Given the description of an element on the screen output the (x, y) to click on. 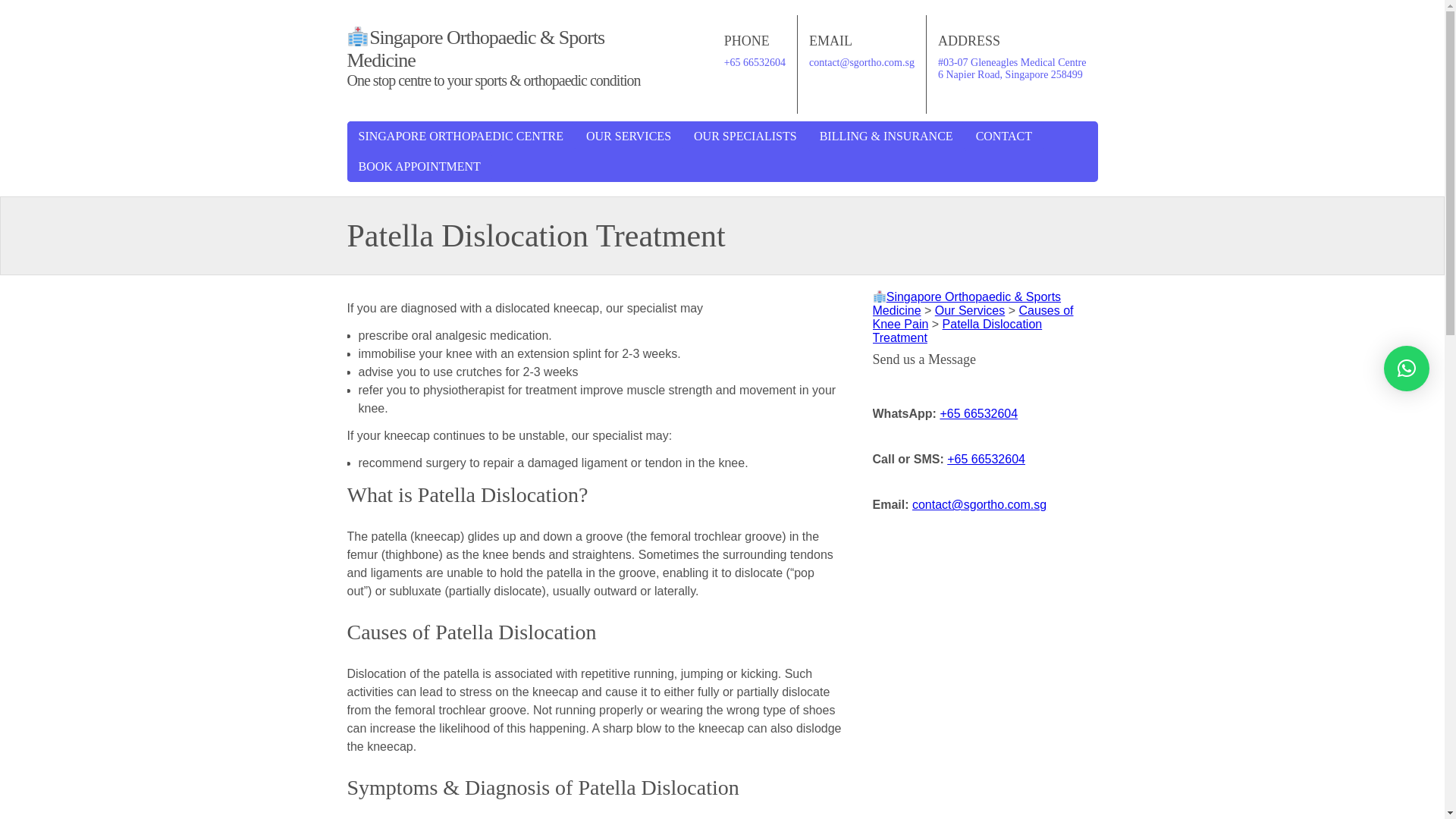
OUR SPECIALISTS (745, 136)
SINGAPORE ORTHOPAEDIC CENTRE (461, 136)
CONTACT (1003, 136)
OUR SERVICES (628, 136)
Our Services (628, 136)
BOOK APPOINTMENT (419, 166)
Patella Dislocation Treatment (957, 330)
Go to Patella Dislocation Treatment. (957, 330)
Contact Us (1003, 136)
Our Specialists (745, 136)
